Given the description of an element on the screen output the (x, y) to click on. 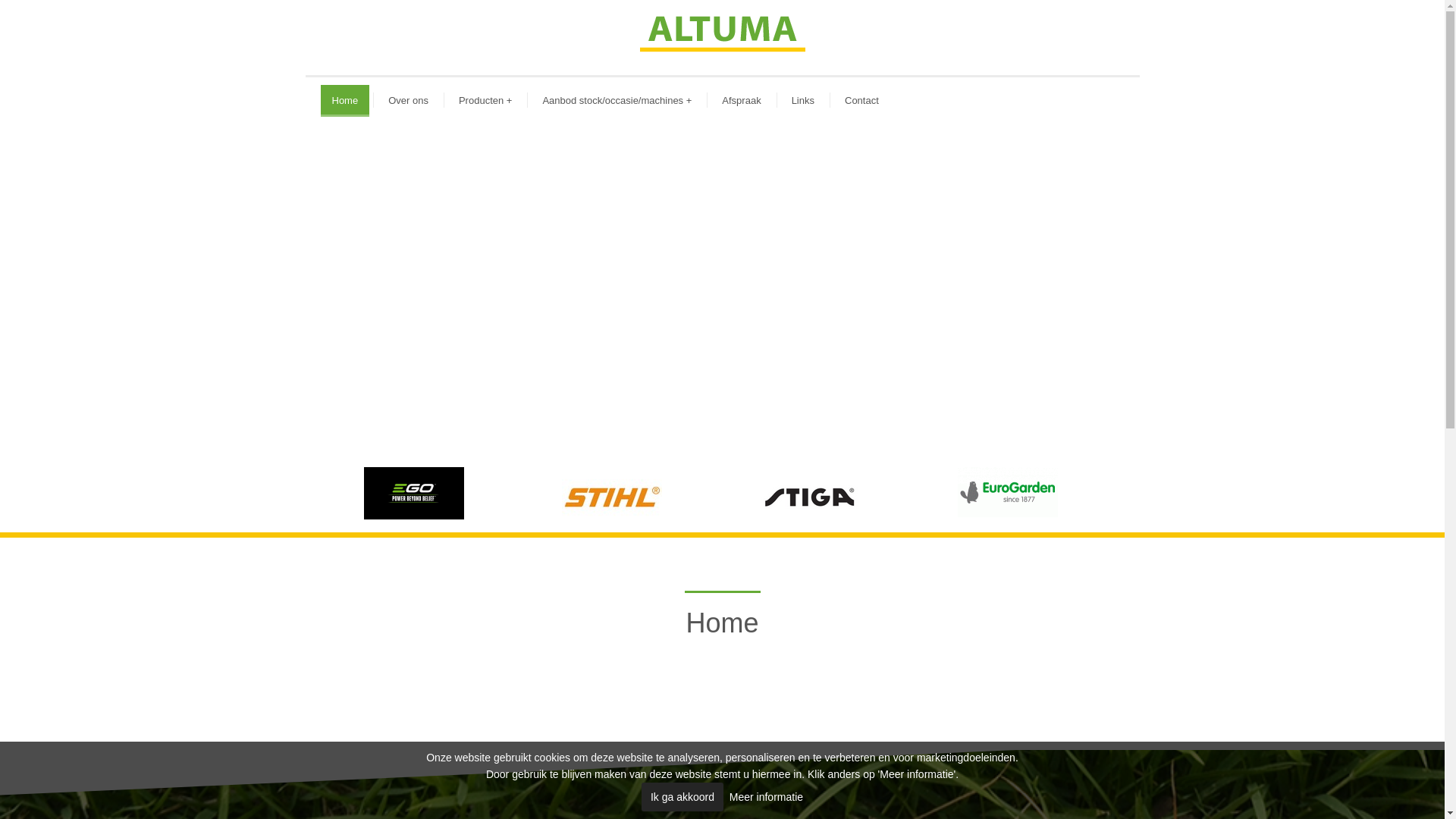
Meer informatie Element type: text (766, 796)
Contact Element type: text (861, 100)
Home Element type: text (344, 100)
Over ons Element type: text (407, 100)
Aanbod stock/occasie/machines + Element type: text (616, 100)
Links Element type: text (802, 100)
Producten + Element type: text (485, 100)
Ik ga akkoord Element type: text (682, 796)
Afspraak Element type: text (740, 100)
